Given the description of an element on the screen output the (x, y) to click on. 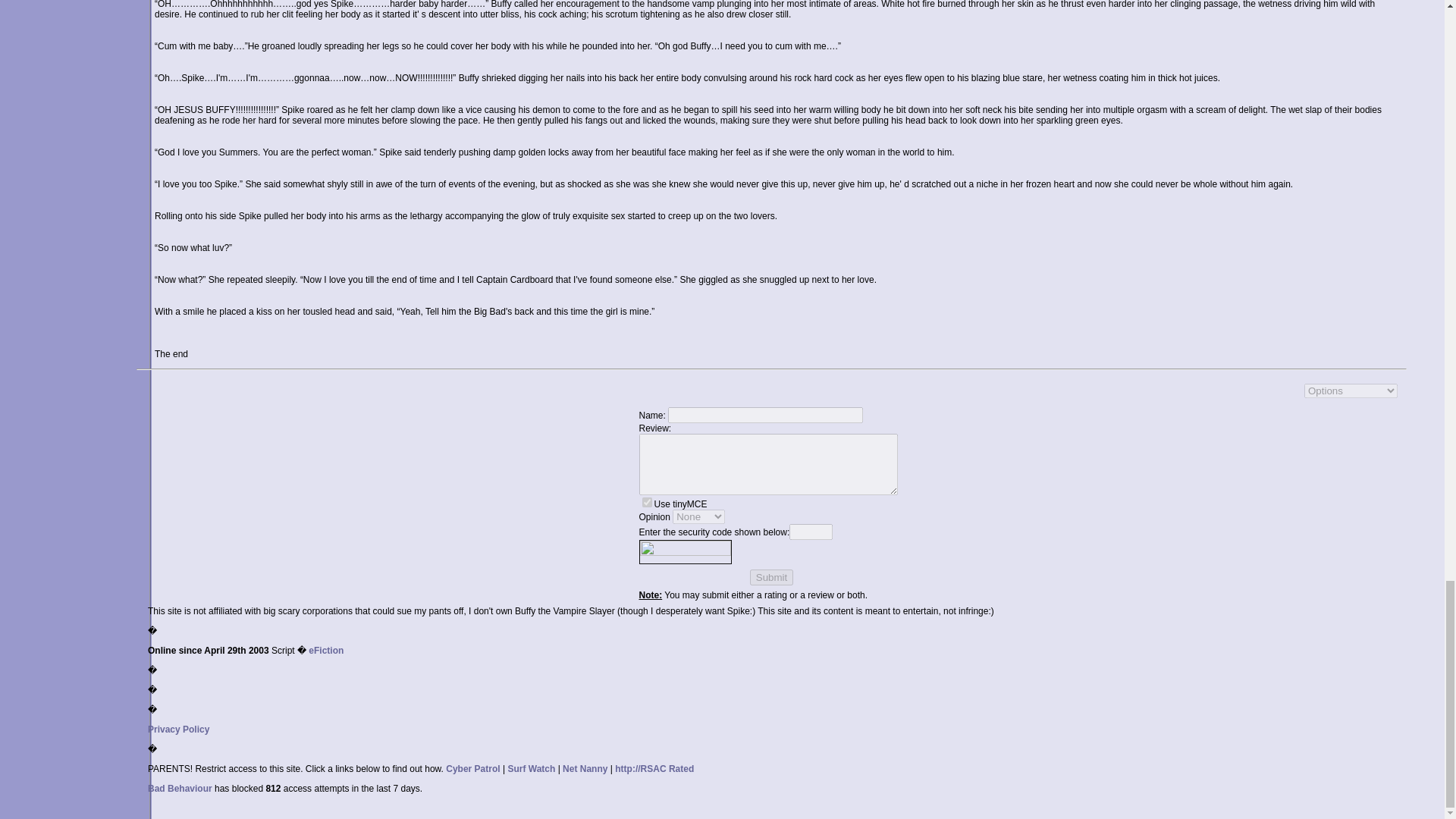
Privacy Policy (178, 728)
on (646, 501)
Cyber Patrol (472, 768)
Submit (771, 577)
Submit (771, 577)
eFiction (325, 650)
